Given the description of an element on the screen output the (x, y) to click on. 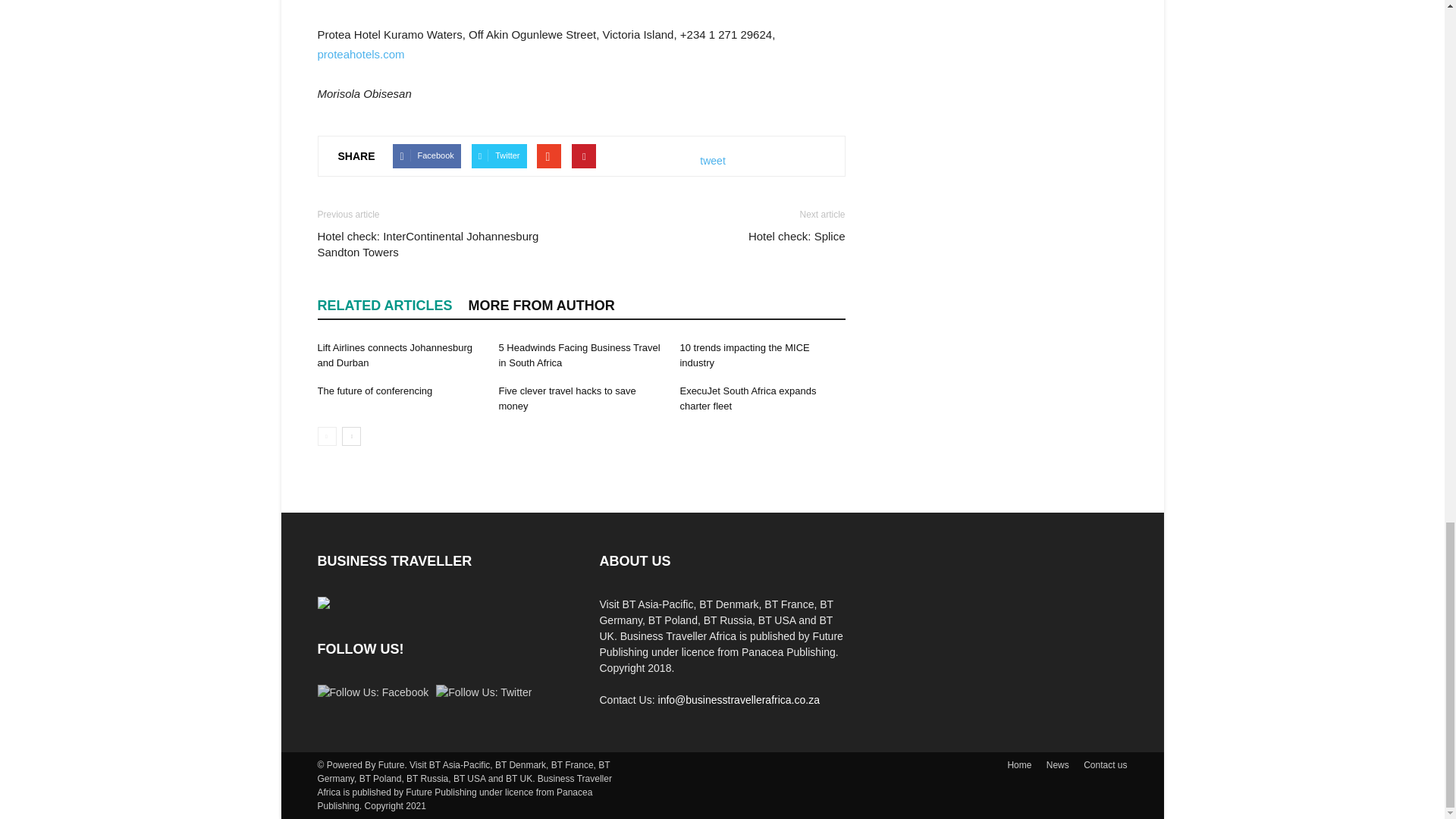
5 Headwinds Facing Business Travel in South Africa (578, 355)
10 trends impacting the MICE industry (744, 355)
ExecuJet South Africa expands charter fleet (747, 397)
Five clever travel hacks to save money (565, 397)
The future of conferencing (374, 390)
Lift Airlines connects Johannesburg and Durban (394, 355)
Follow Us: Facebook (372, 692)
